Given the description of an element on the screen output the (x, y) to click on. 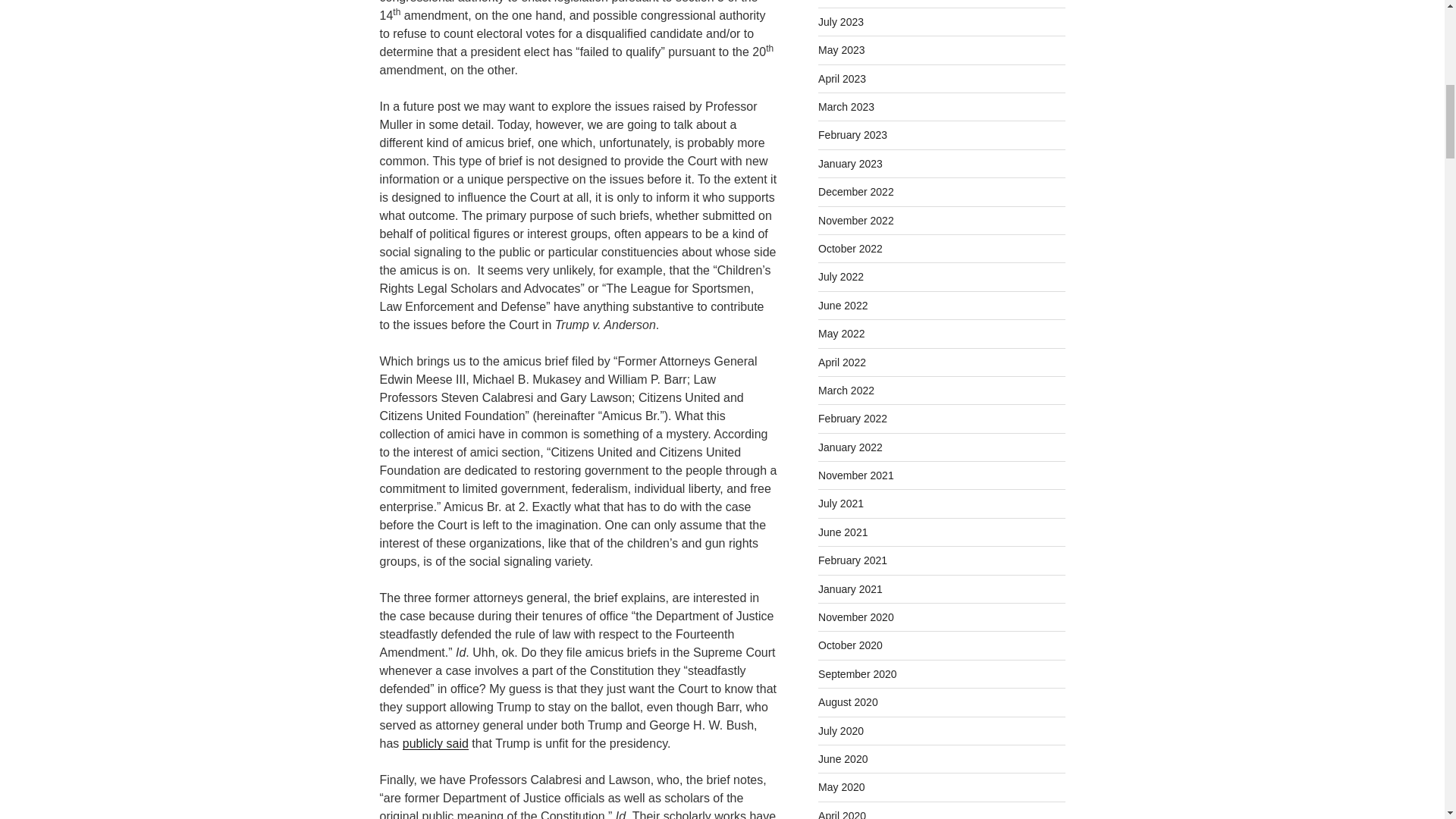
February 2023 (852, 134)
March 2023 (846, 106)
publicly said (435, 743)
April 2023 (842, 78)
July 2022 (840, 276)
May 2022 (841, 333)
June 2022 (842, 305)
November 2022 (855, 220)
December 2022 (855, 191)
October 2022 (850, 248)
